Given the description of an element on the screen output the (x, y) to click on. 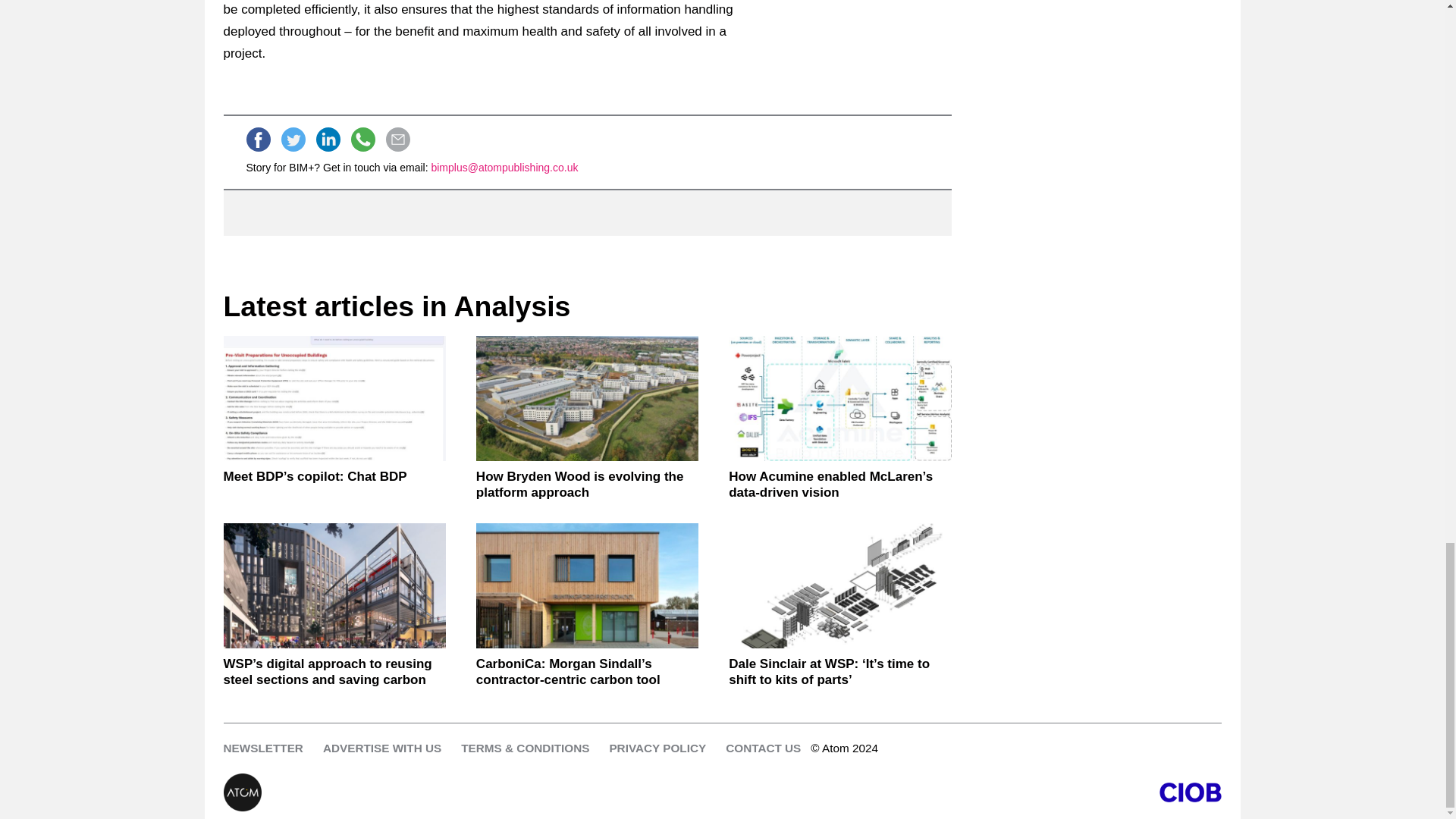
Share on LinkedIn (327, 139)
How Bryden Wood is evolving the platform approach (587, 398)
Tweet (292, 139)
Send email (397, 139)
Share on WhatsApp (362, 139)
How Bryden Wood is evolving the platform approach (587, 484)
Share on Facebook (257, 139)
